Given the description of an element on the screen output the (x, y) to click on. 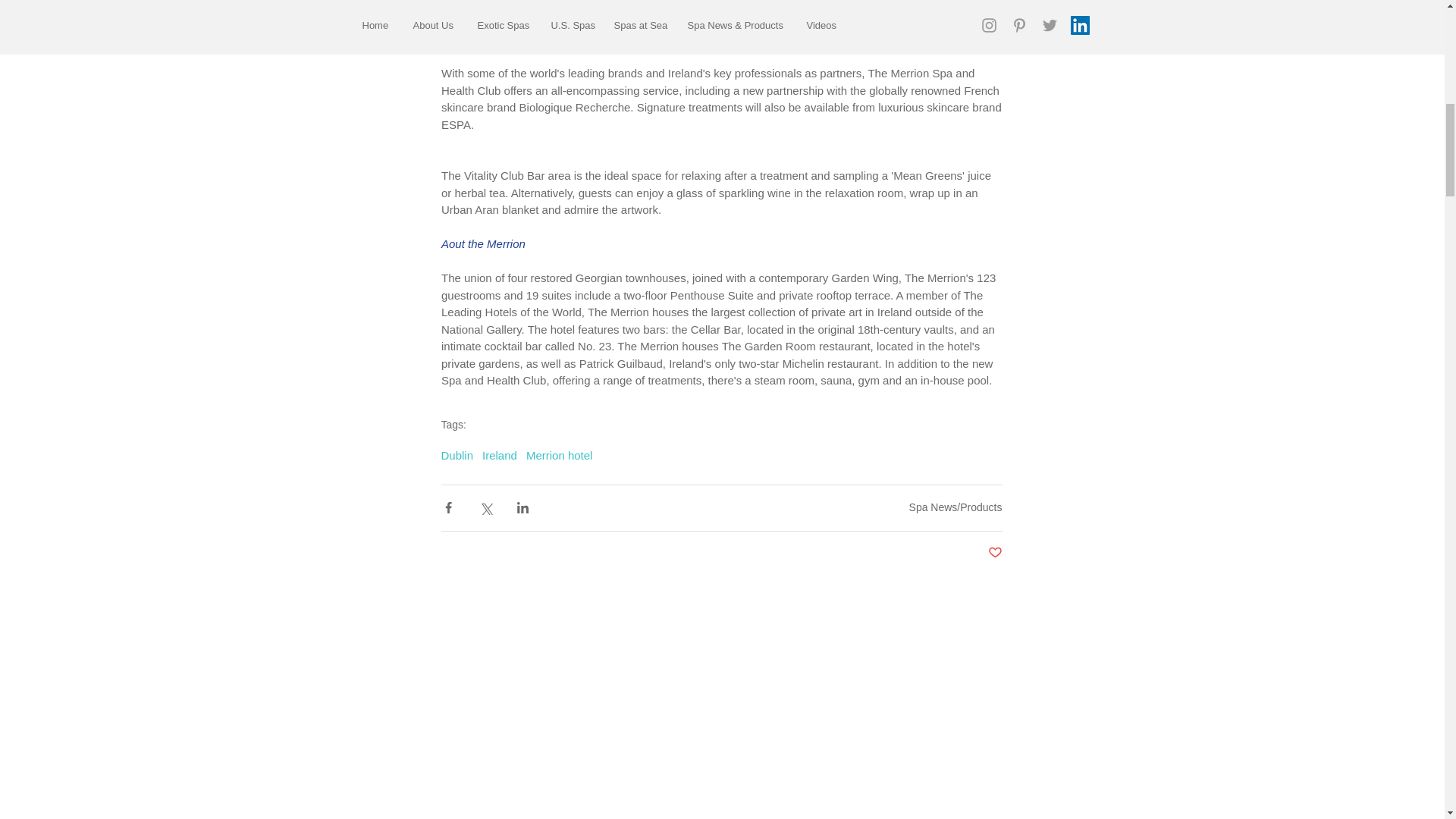
Ireland (498, 454)
Merrion hotel (558, 454)
Dublin (457, 454)
Post not marked as liked (994, 553)
